Given the description of an element on the screen output the (x, y) to click on. 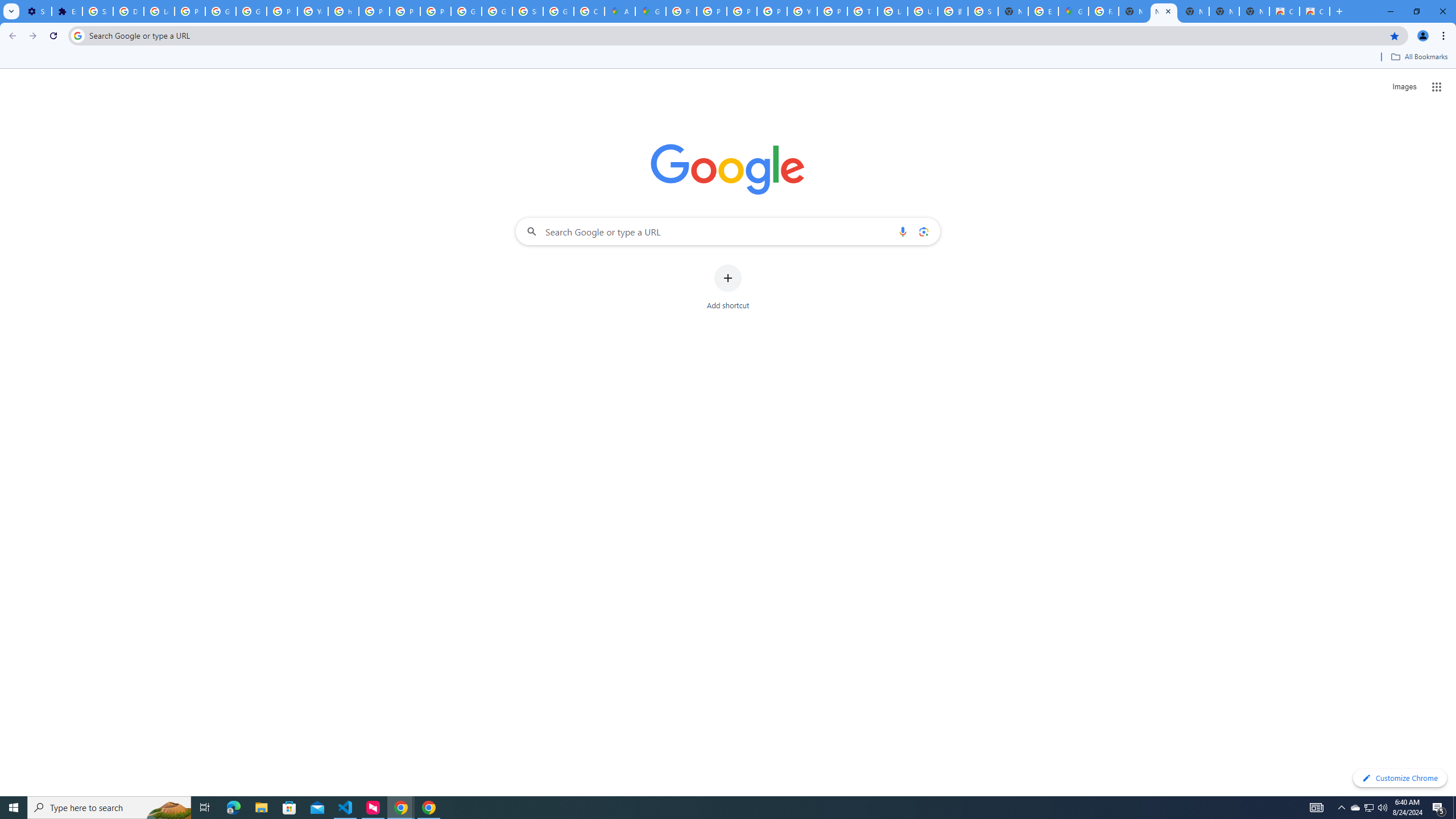
Tips & tricks for Chrome - Google Chrome Help (862, 11)
New Tab (1012, 11)
New Tab (1254, 11)
Explore new street-level details - Google Maps Help (1042, 11)
